Given the description of an element on the screen output the (x, y) to click on. 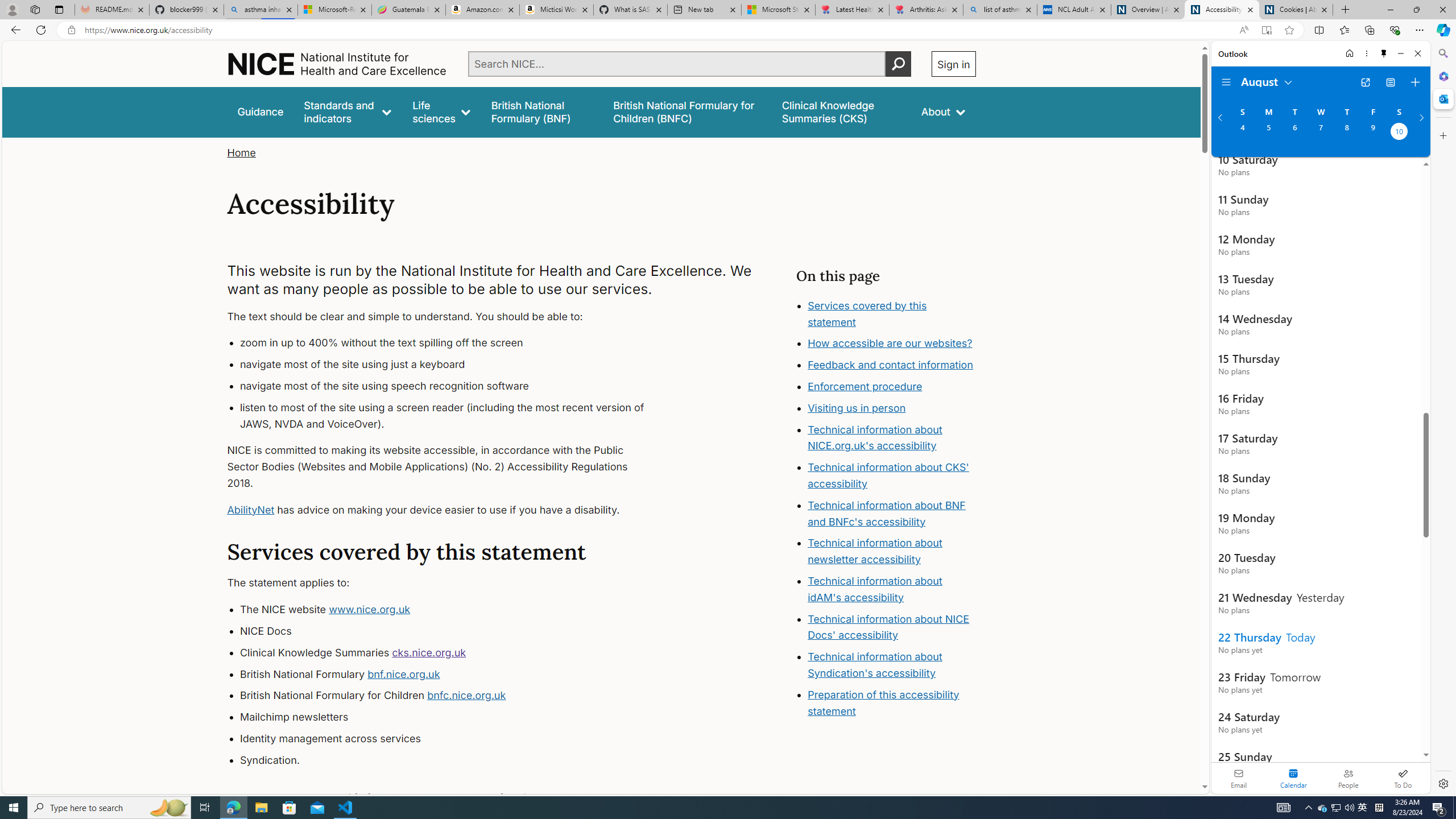
British National Formulary for Children (BNFC) (686, 111)
asthma inhaler - Search (260, 9)
list of asthma inhalers uk - Search (1000, 9)
British National Formulary for Children bnfc.nice.org.uk (452, 695)
About (942, 111)
AbilityNet (251, 509)
Syndication. (452, 760)
Enforcement procedure (865, 386)
